Given the description of an element on the screen output the (x, y) to click on. 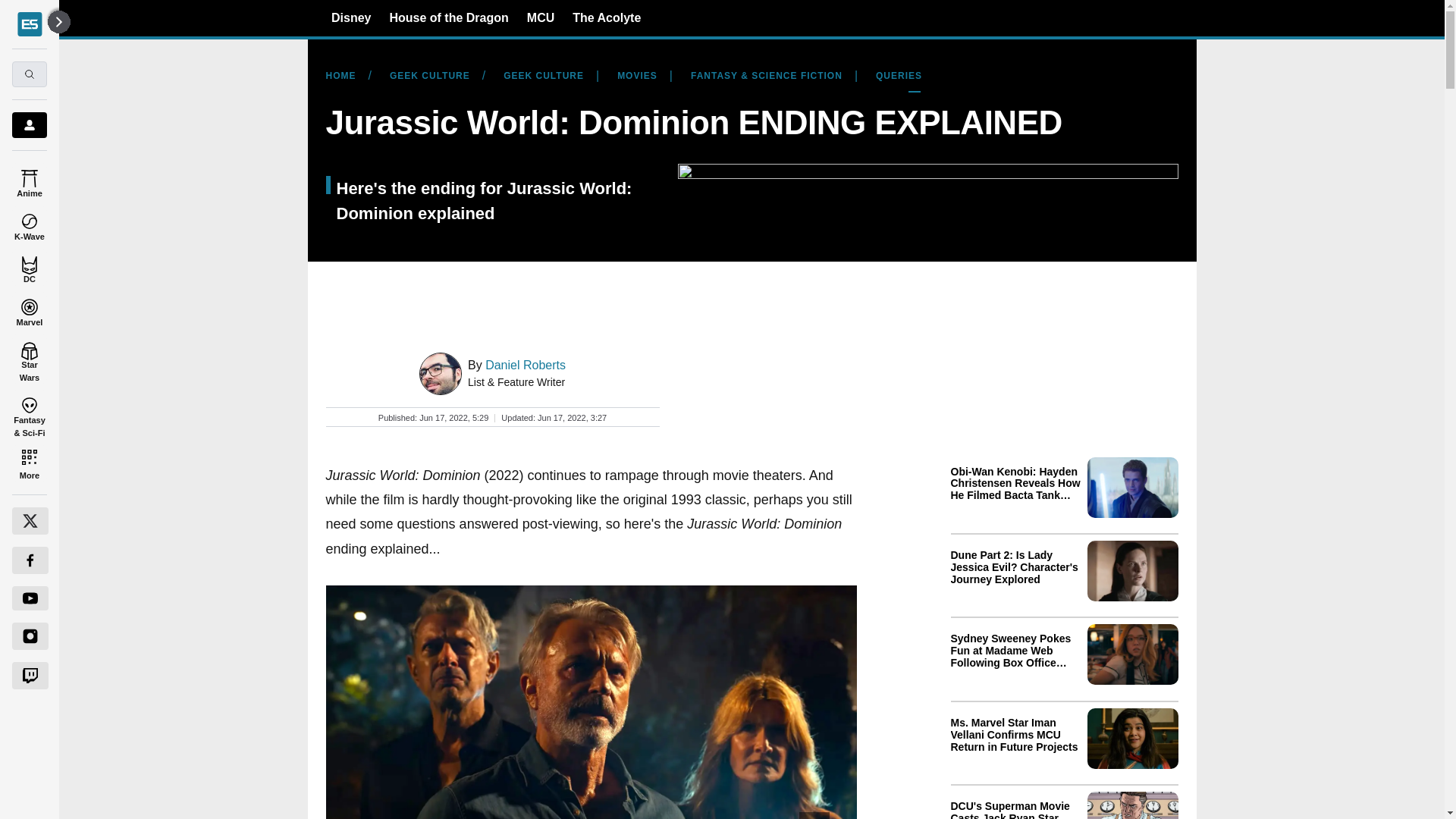
Disney (351, 18)
MCU (540, 18)
House of the Dragon (448, 18)
K-Wave (28, 224)
Star Wars (28, 359)
Latest News (1063, 634)
More (28, 463)
Anime (28, 180)
DC (28, 266)
HOME (347, 75)
GEEK CULTURE (543, 75)
The Acolyte (606, 18)
Marvel (28, 309)
GEEK CULTURE (429, 75)
MOVIES (637, 75)
